Given the description of an element on the screen output the (x, y) to click on. 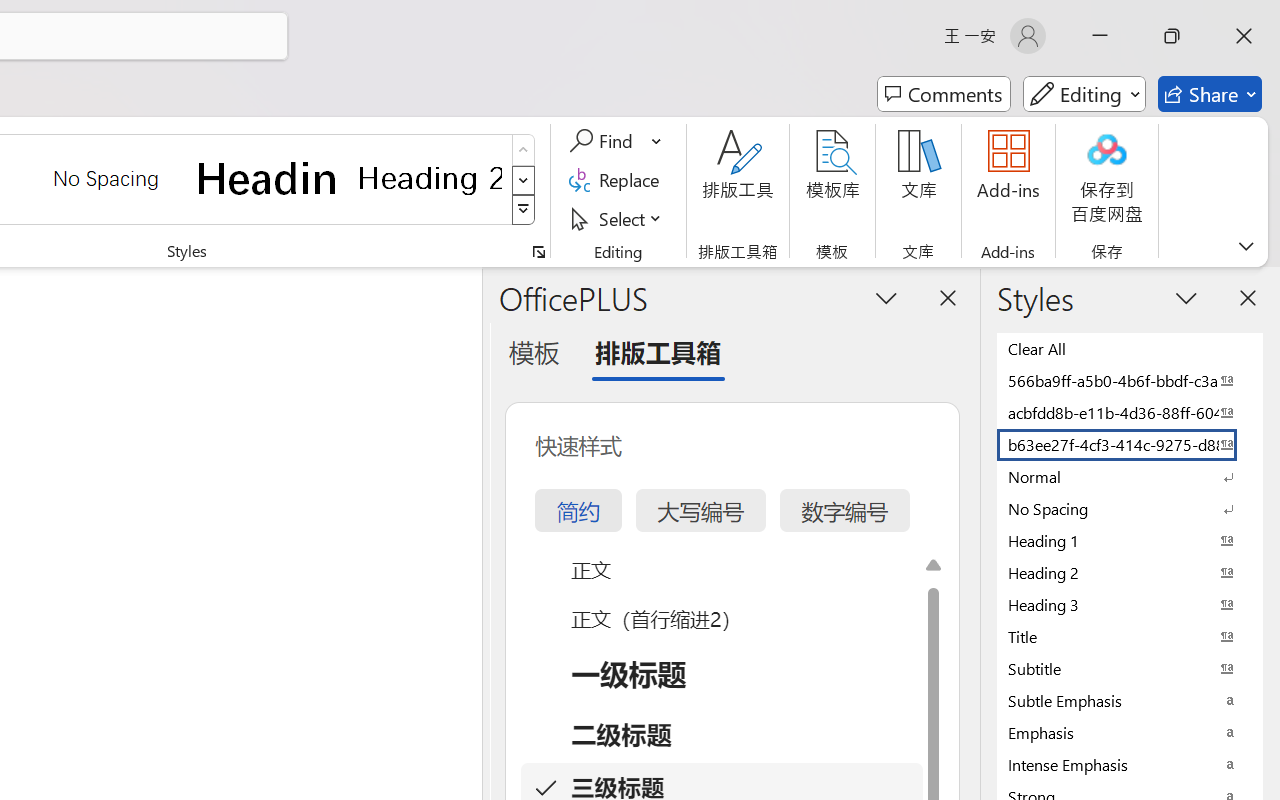
Replace... (617, 179)
No Spacing (1130, 508)
b63ee27f-4cf3-414c-9275-d88e3f90795e (1130, 444)
Minimize (1099, 36)
Find (604, 141)
Mode (1083, 94)
Heading 2 (429, 178)
Find (616, 141)
Restore Down (1172, 36)
Styles (523, 209)
Title (1130, 636)
